Given the description of an element on the screen output the (x, y) to click on. 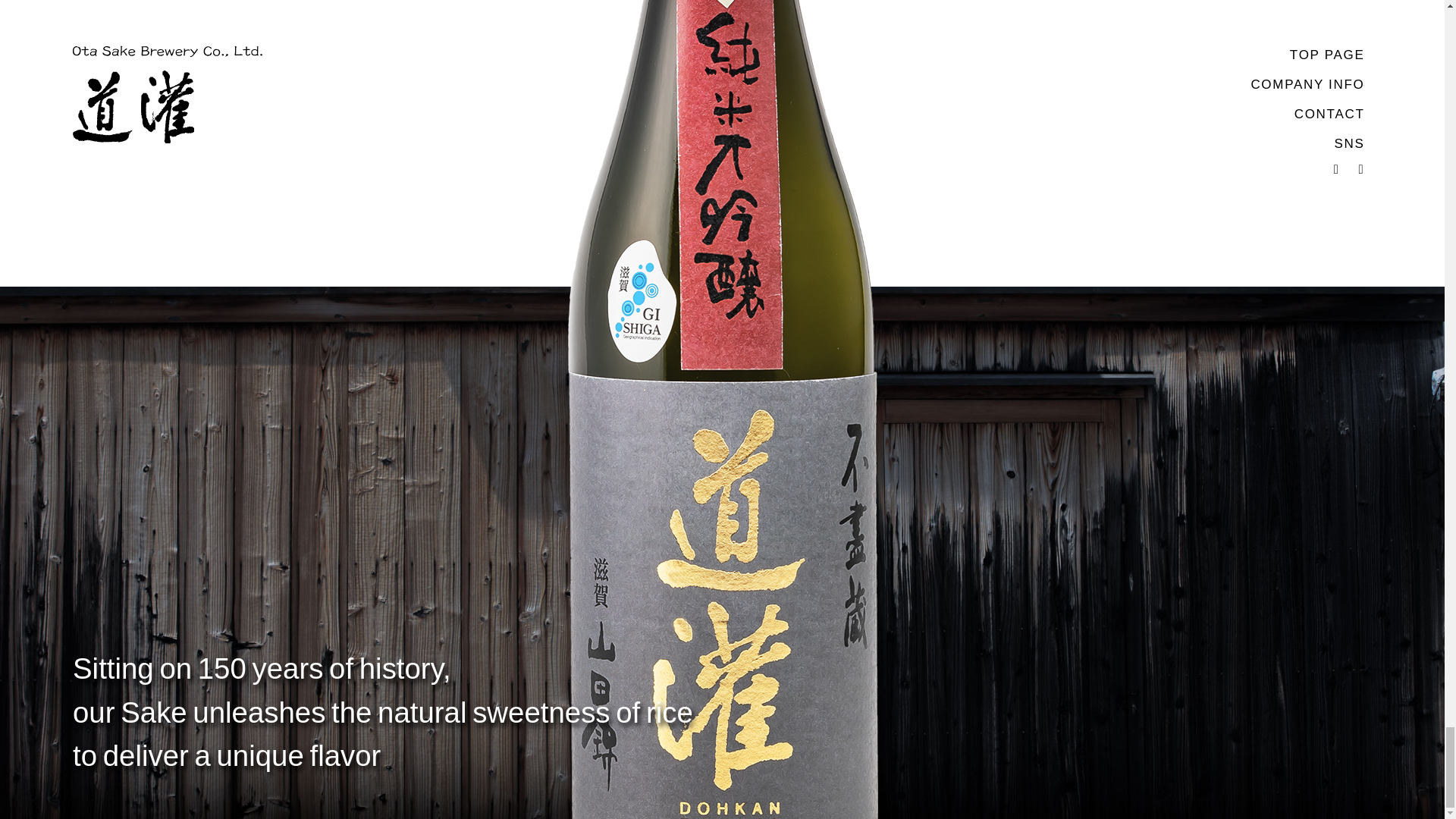
CONTACT (720, 658)
